Given the description of an element on the screen output the (x, y) to click on. 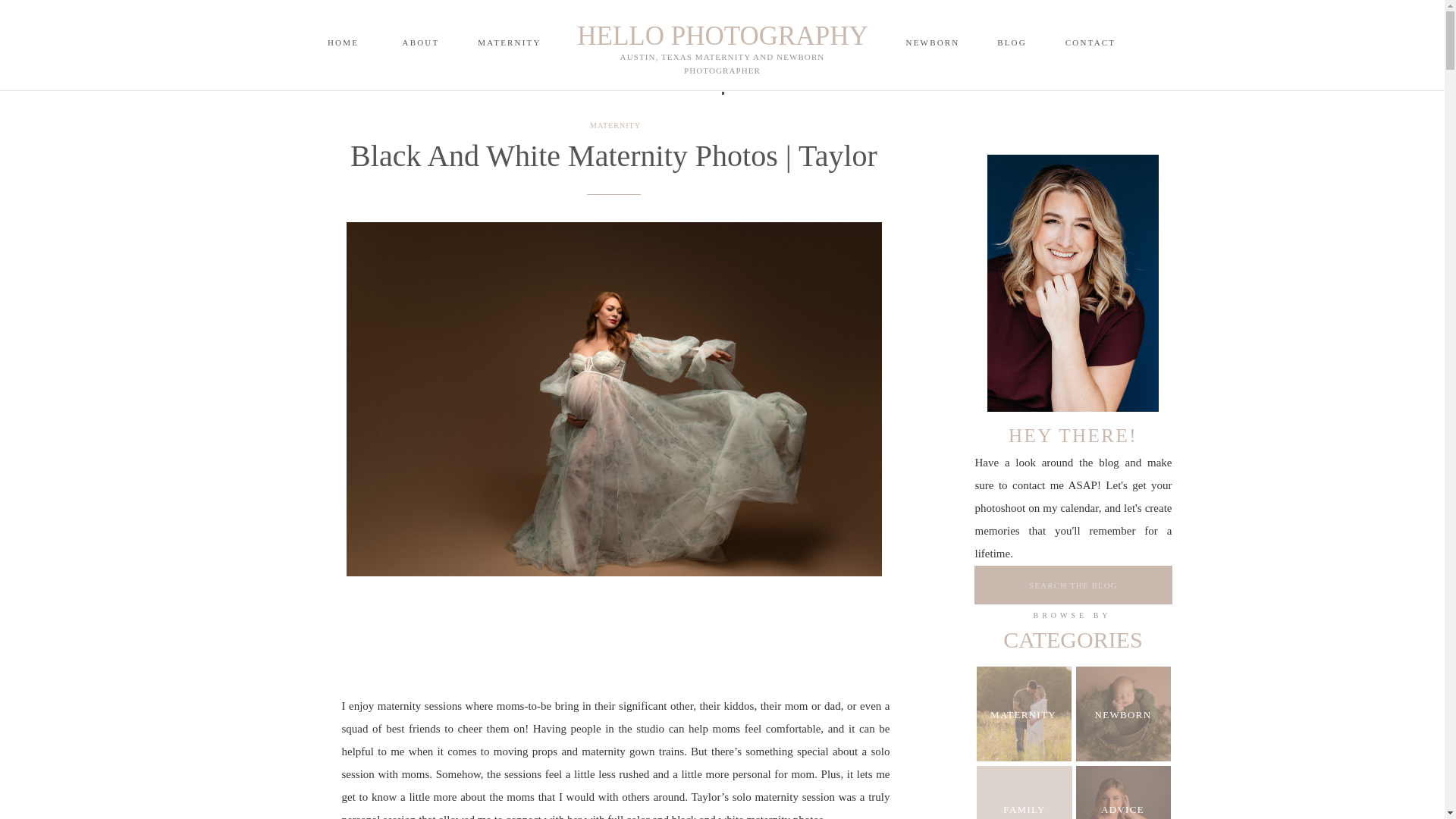
NEWBORN (931, 42)
MATERNITY (509, 43)
NEWBORN (1123, 715)
HOME (343, 42)
CONTACT (1090, 43)
ADVICE (1122, 809)
MATERNITY (614, 125)
MATERNITY (1023, 713)
FAMILY (1023, 808)
BLOG (1011, 41)
